Given the description of an element on the screen output the (x, y) to click on. 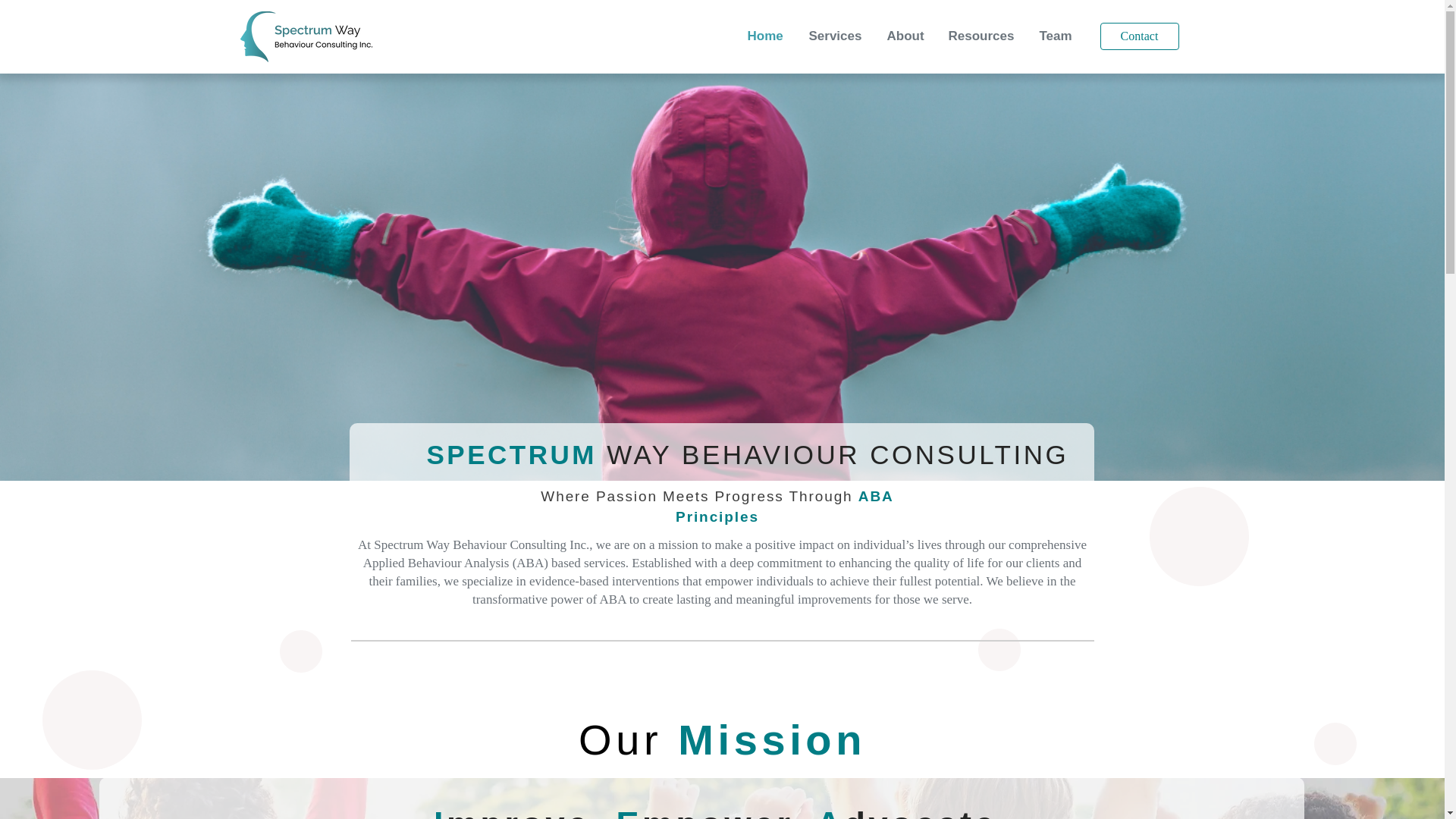
Home (765, 36)
Resources (982, 36)
Team (1058, 36)
Contact (1138, 35)
About (905, 36)
Services (836, 36)
